Given the description of an element on the screen output the (x, y) to click on. 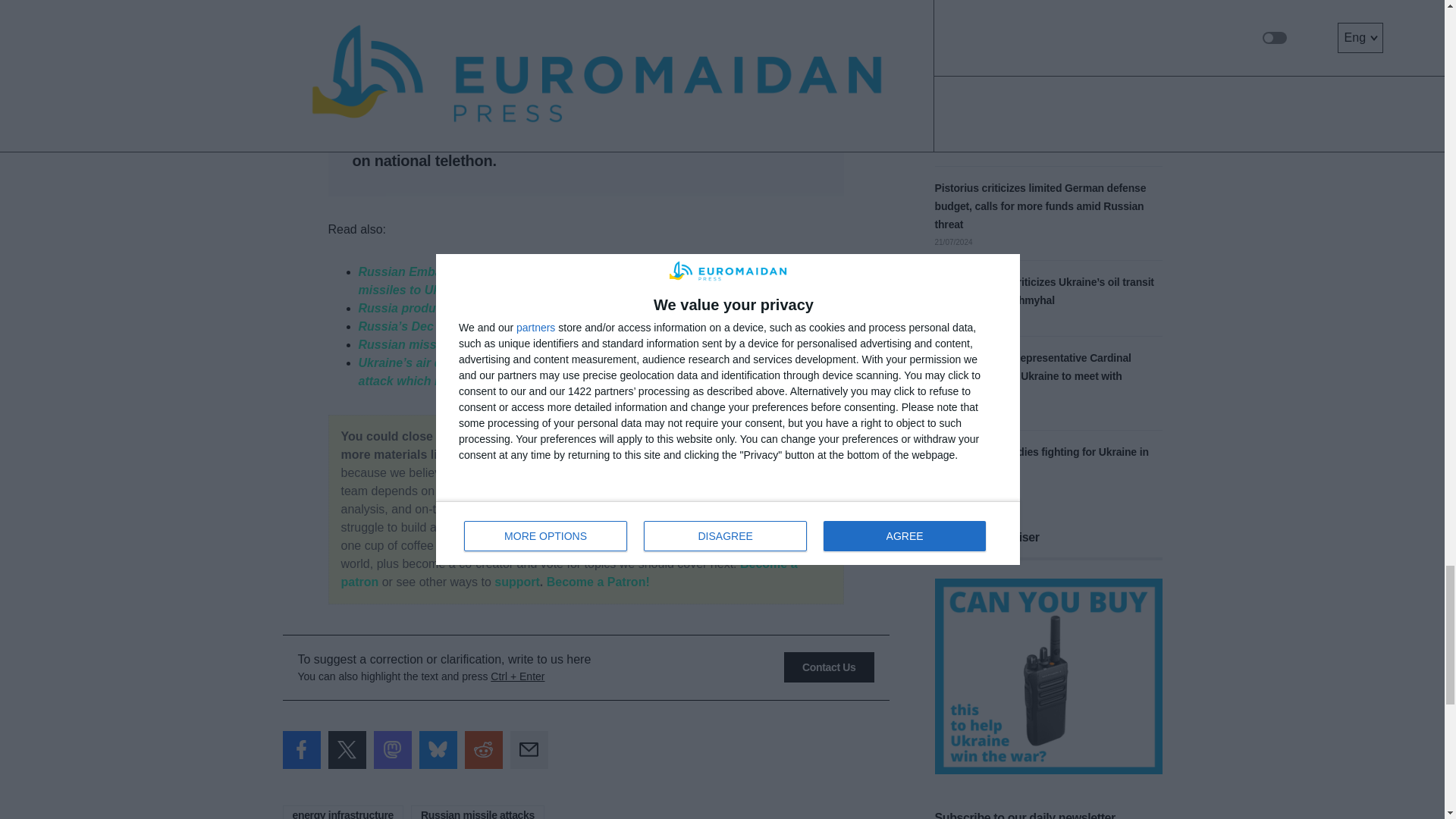
Share to Bluesky (438, 750)
Share to Mastodon (391, 750)
Share to Email (528, 750)
Share to Facebook (301, 750)
Share to Reddit (483, 750)
Share to Twitter (346, 750)
